Given the description of an element on the screen output the (x, y) to click on. 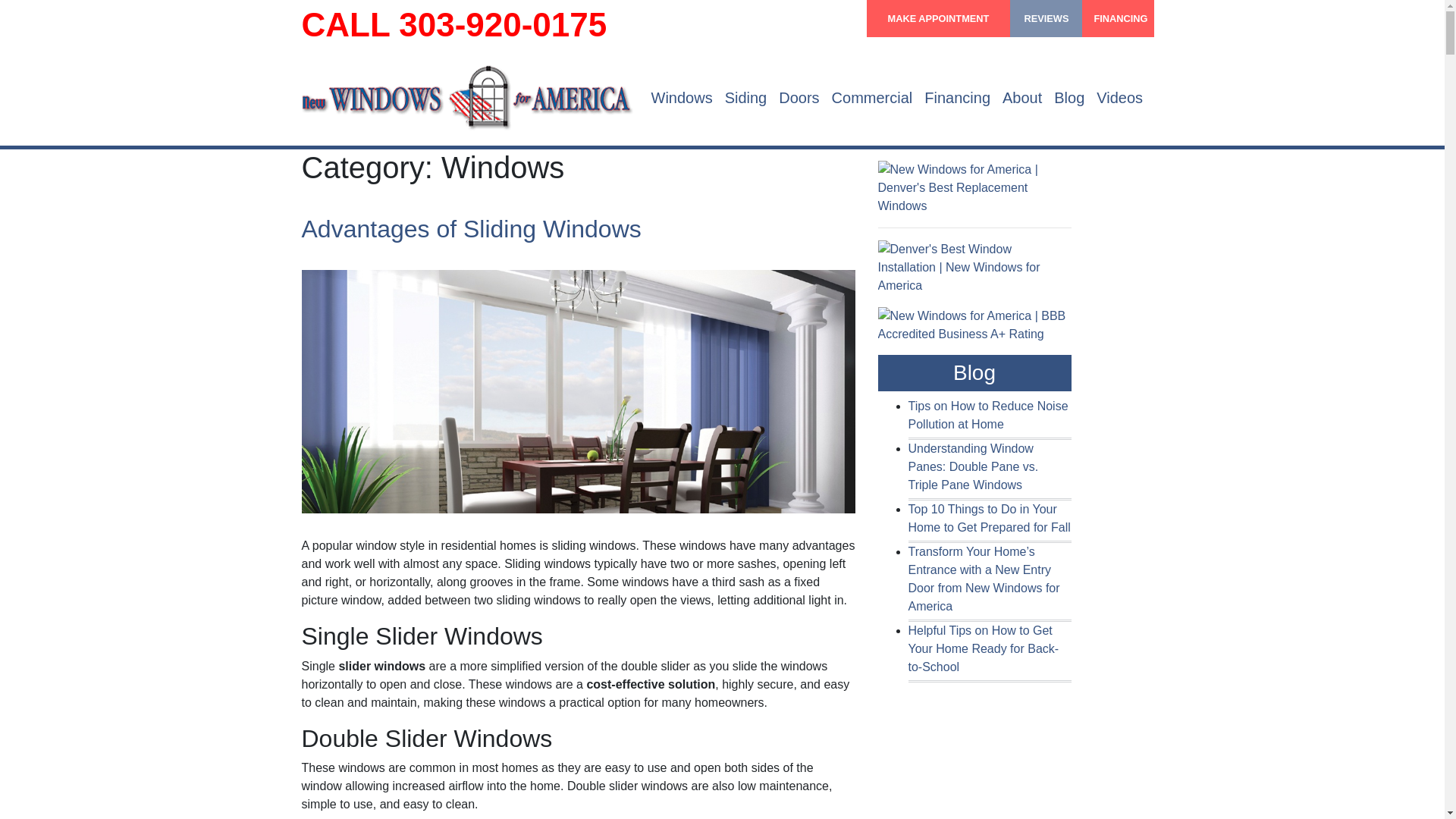
REVIEWS (1045, 18)
About (1021, 97)
Financing (956, 97)
Commercial (871, 97)
Windows (681, 97)
Doors (799, 97)
MAKE APPOINTMENT (938, 18)
Commercial (871, 97)
Advantages of Sliding Windows (471, 228)
Blog (1069, 97)
